Given the description of an element on the screen output the (x, y) to click on. 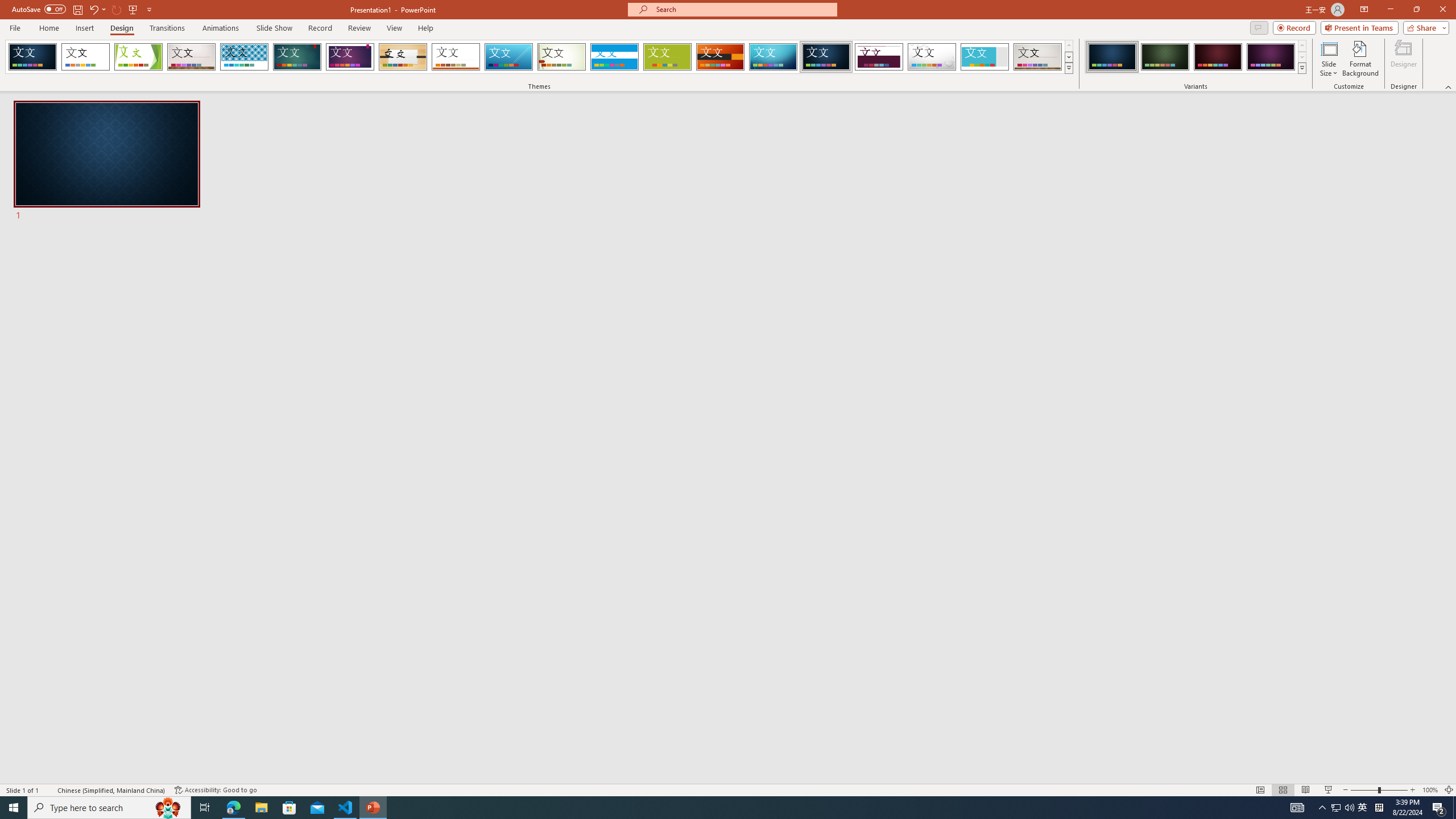
Accessibility Checker Accessibility: Good to go (216, 790)
Integral Loading Preview... (244, 56)
AutomationID: SlideThemesGallery (539, 56)
Banded Loading Preview... (614, 56)
Slice Loading Preview... (508, 56)
Droplet Loading Preview... (931, 56)
